Given the description of an element on the screen output the (x, y) to click on. 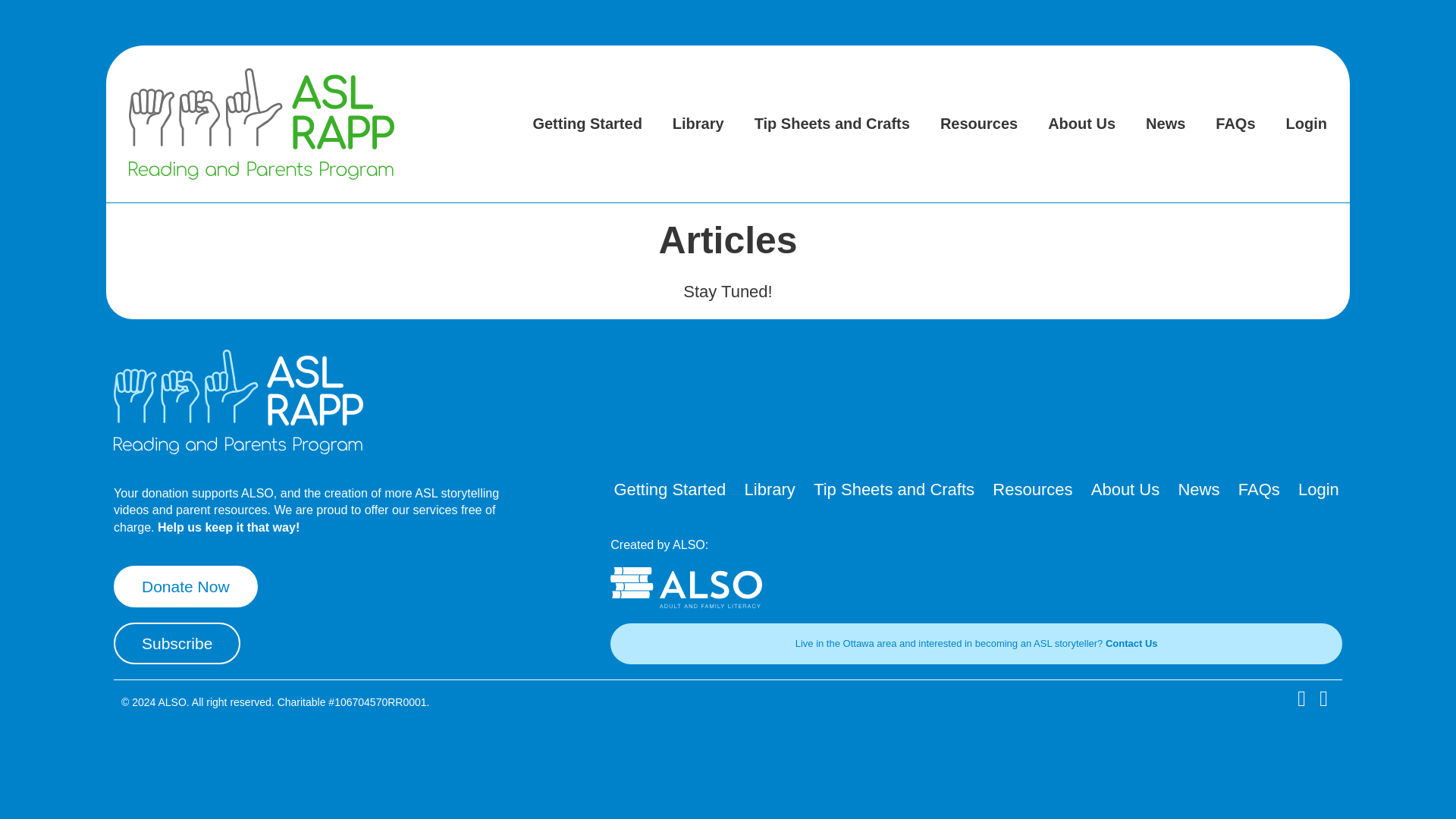
Getting Started (586, 123)
FAQs (1258, 489)
Library (698, 123)
About Us (1081, 123)
Subscribe (176, 643)
Login (1318, 489)
Library (769, 489)
Tip Sheets and Crafts (893, 489)
Tip Sheets and Crafts (831, 123)
Resources (1032, 489)
Getting Started (669, 489)
Donate Now (185, 586)
News (1165, 123)
FAQs (1234, 123)
Login (1306, 123)
